Given the description of an element on the screen output the (x, y) to click on. 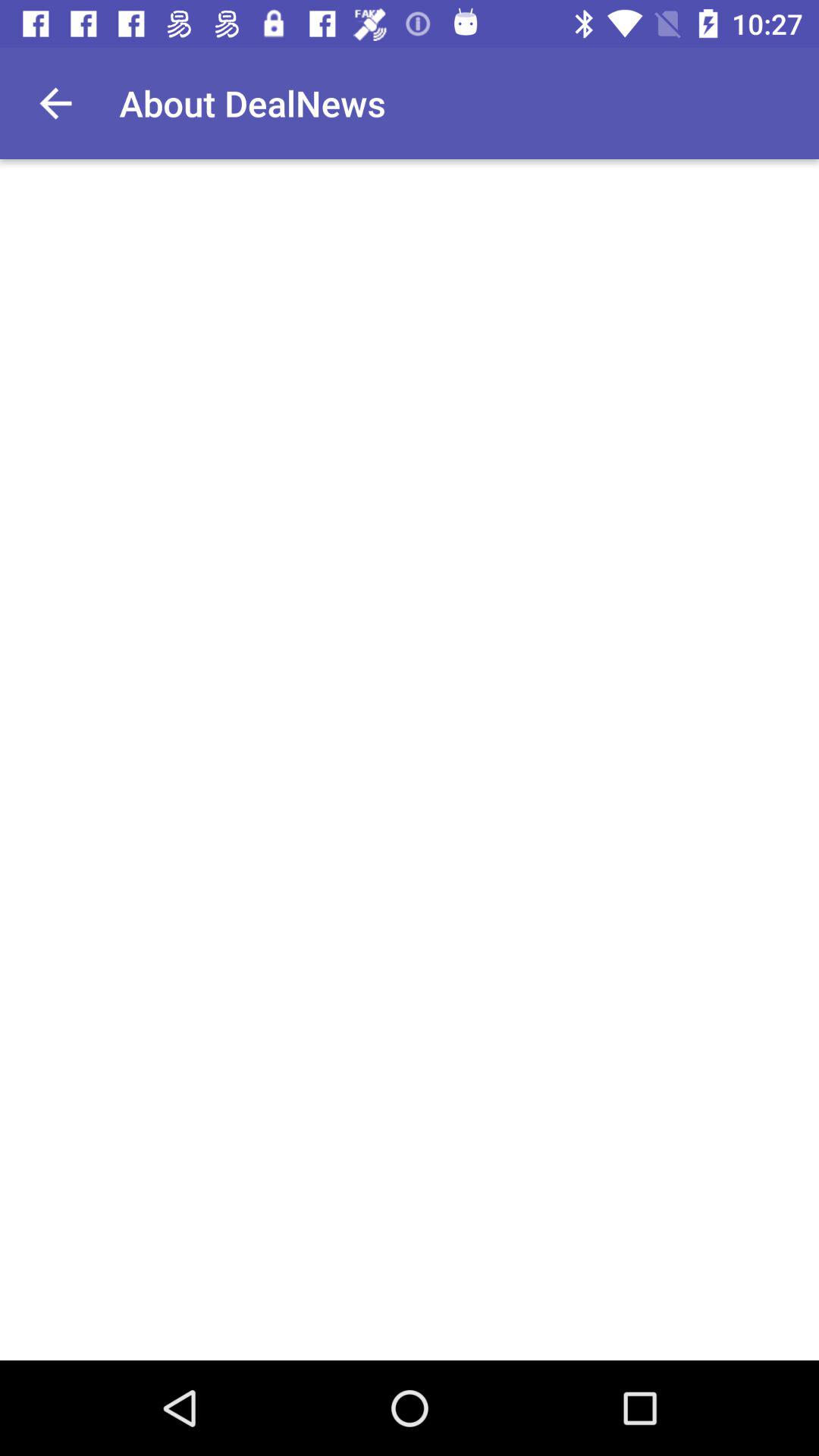
open item next to the about dealnews (55, 103)
